Given the description of an element on the screen output the (x, y) to click on. 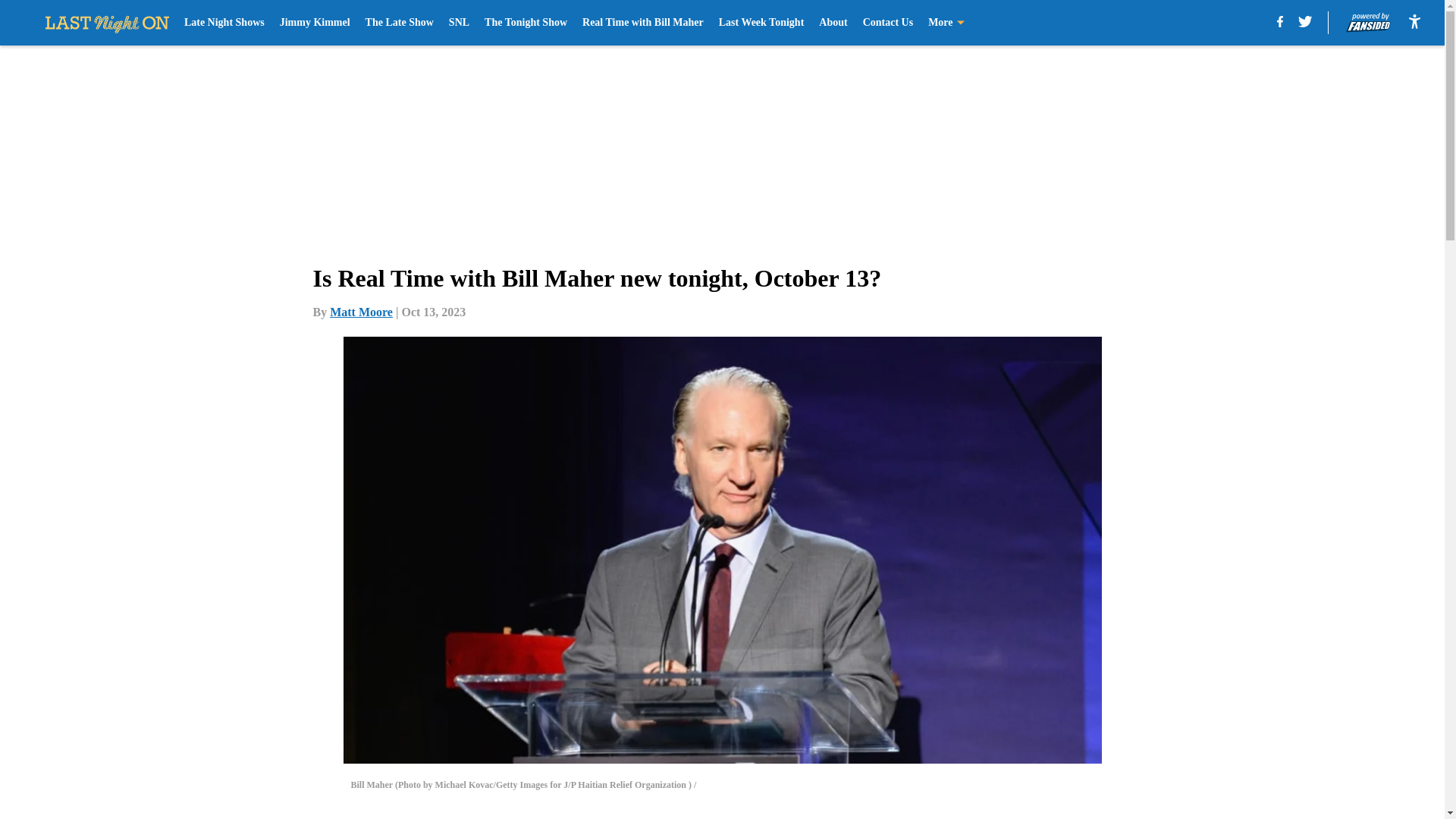
Contact Us (888, 22)
About (832, 22)
Matt Moore (361, 311)
Late Night Shows (224, 22)
More (945, 22)
The Tonight Show (525, 22)
The Late Show (399, 22)
SNL (458, 22)
Jimmy Kimmel (314, 22)
Last Week Tonight (762, 22)
Real Time with Bill Maher (642, 22)
